Given the description of an element on the screen output the (x, y) to click on. 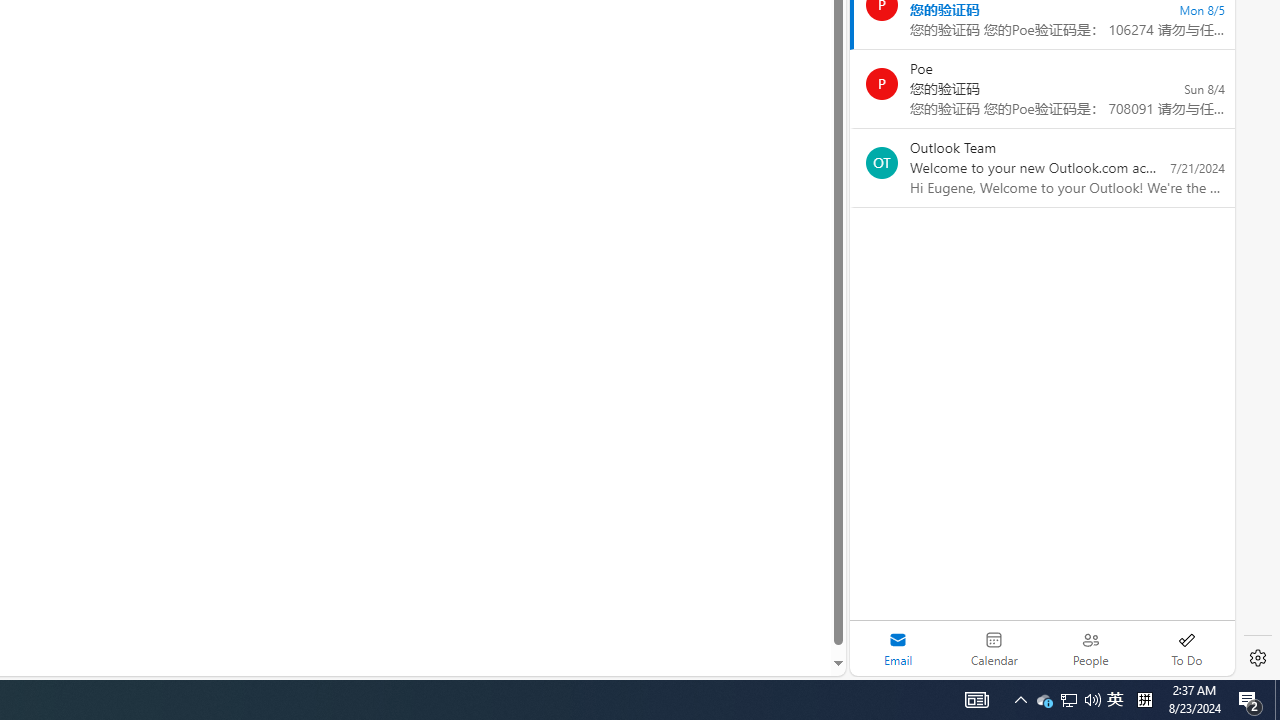
Calendar. Date today is 22 (994, 648)
Selected mail module (898, 648)
People (1090, 648)
To Do (1186, 648)
